Given the description of an element on the screen output the (x, y) to click on. 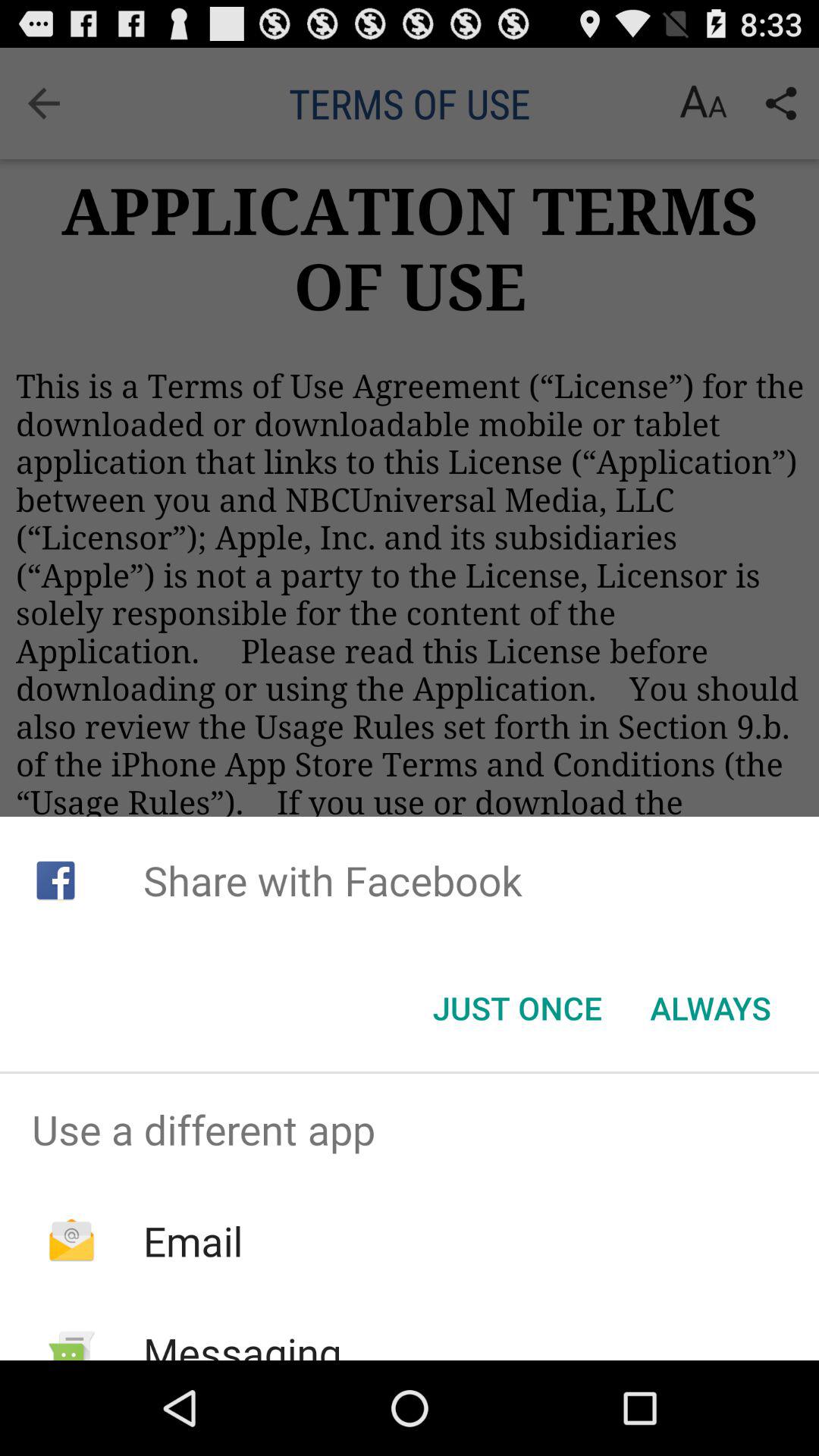
select the button next to the just once item (710, 1007)
